Given the description of an element on the screen output the (x, y) to click on. 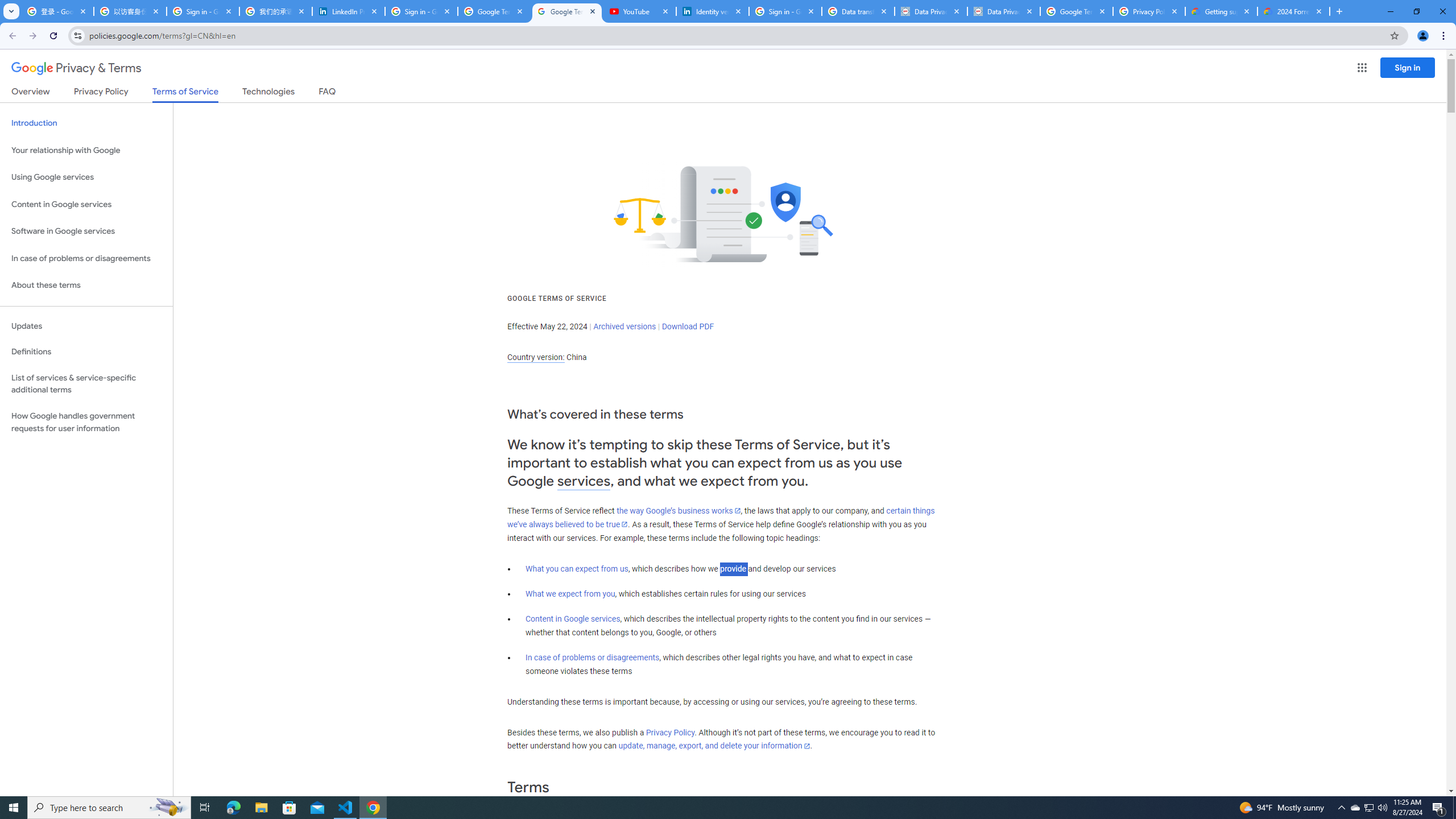
About these terms (86, 284)
Data Privacy Framework (930, 11)
Data Privacy Framework (1003, 11)
Your relationship with Google (86, 150)
